Given the description of an element on the screen output the (x, y) to click on. 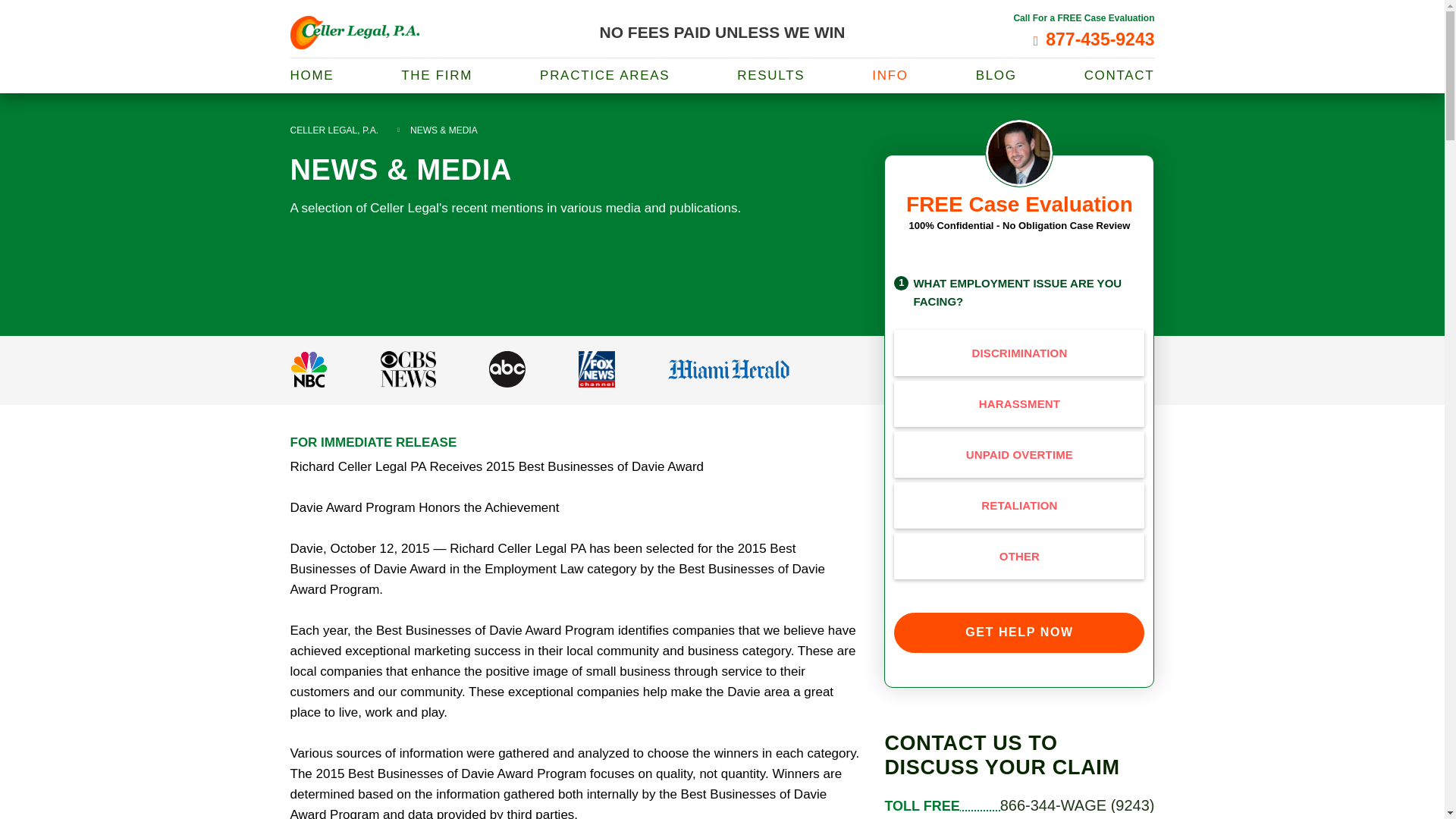
INFO (889, 74)
RESULTS (770, 74)
HOME (311, 74)
PRACTICE AREAS (604, 74)
877-435-9243 (1093, 39)
CONTACT (1119, 74)
THE FIRM (436, 74)
BLOG (995, 74)
Go to Celler Legal, P.A.. (333, 130)
